Given the description of an element on the screen output the (x, y) to click on. 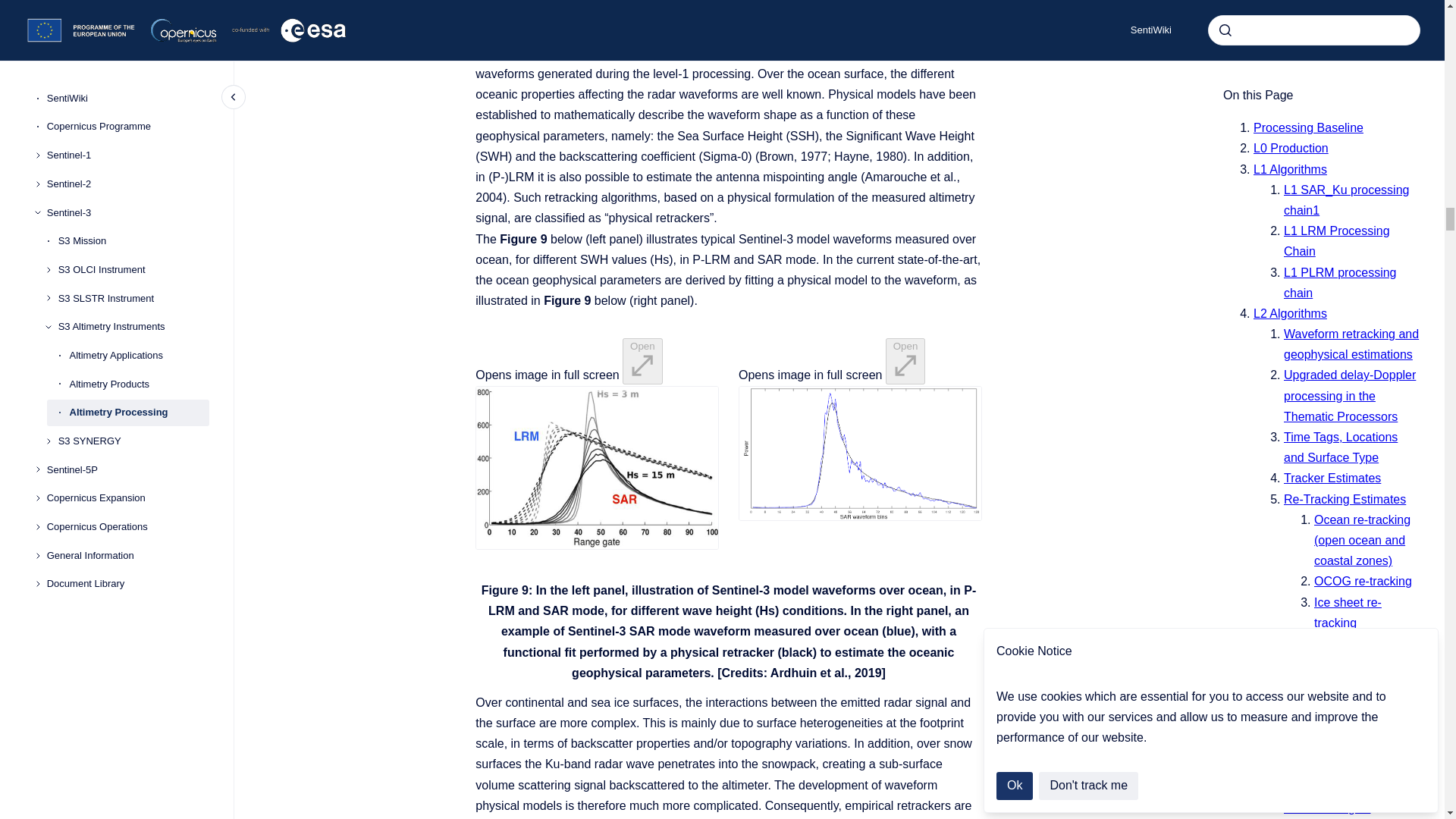
Copy to clipboard (468, 1)
